Given the description of an element on the screen output the (x, y) to click on. 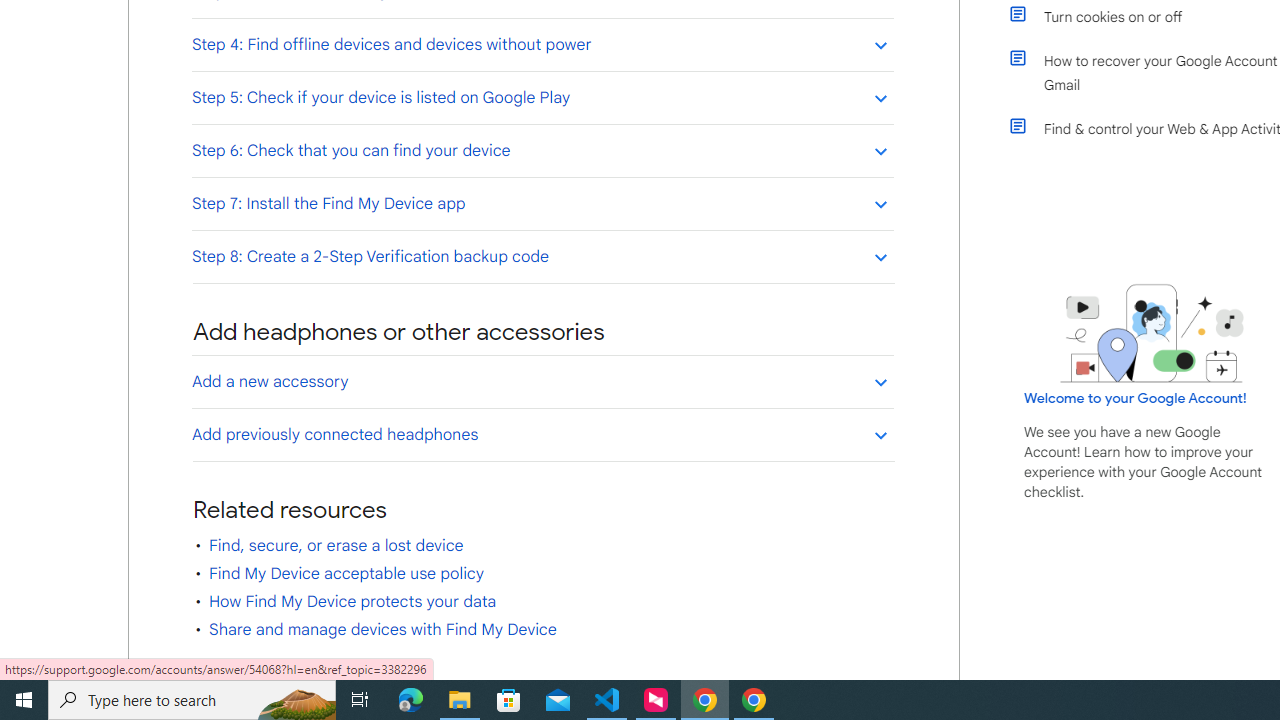
Step 5: Check if your device is listed on Google Play (542, 97)
